Given the description of an element on the screen output the (x, y) to click on. 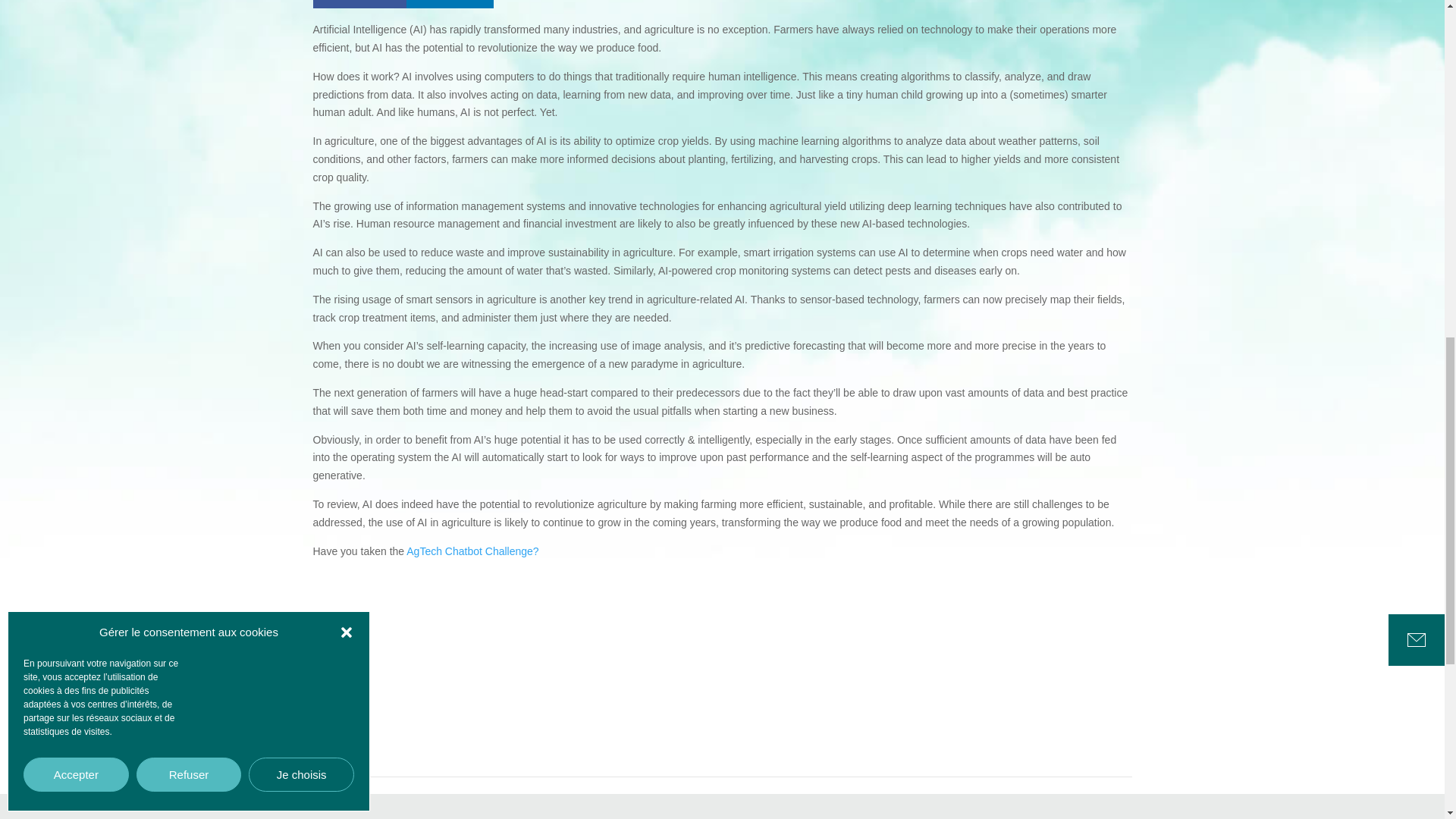
Share on Facebook (359, 4)
Share on LinkedIn (450, 4)
